Given the description of an element on the screen output the (x, y) to click on. 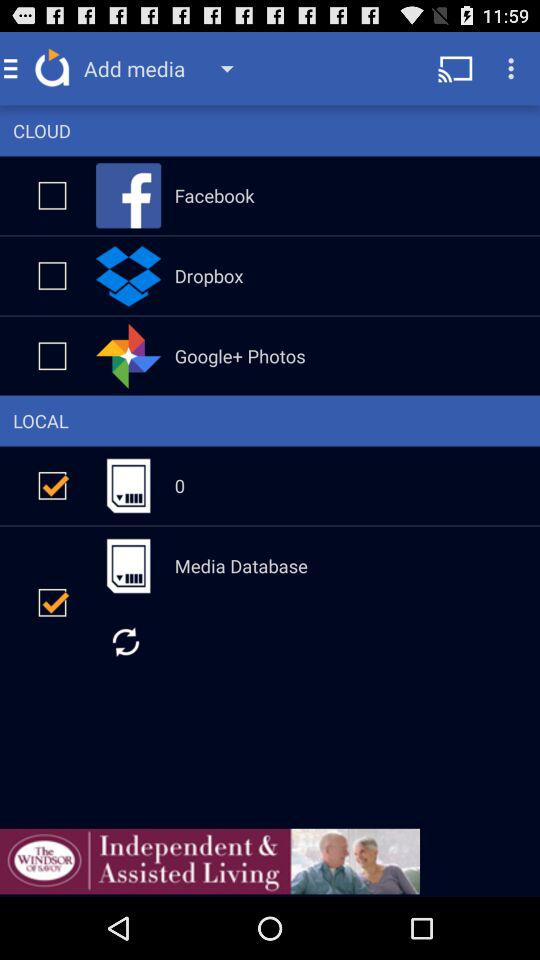
select google+ photos (52, 355)
